Given the description of an element on the screen output the (x, y) to click on. 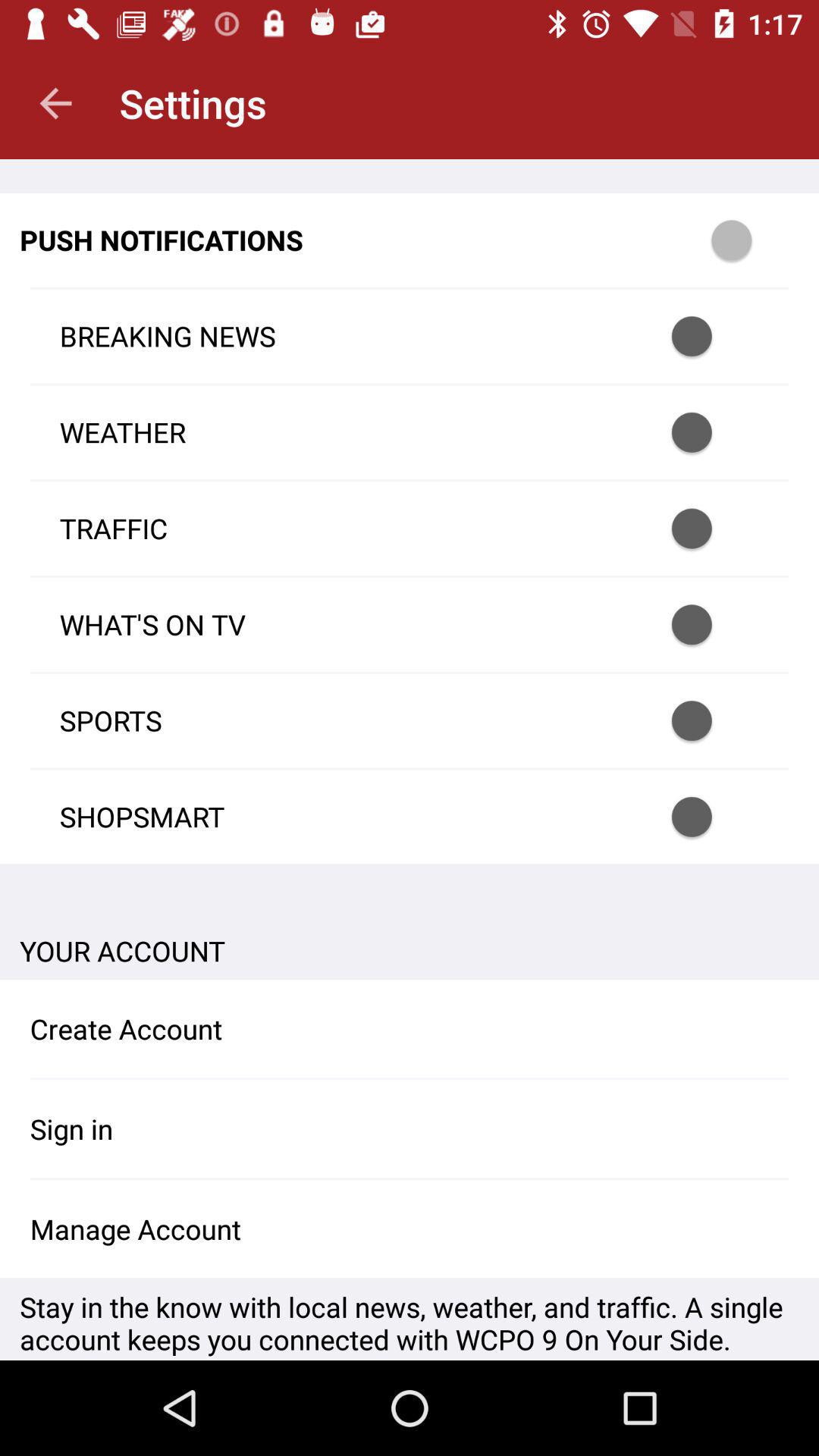
open item to the left of settings icon (55, 103)
